Given the description of an element on the screen output the (x, y) to click on. 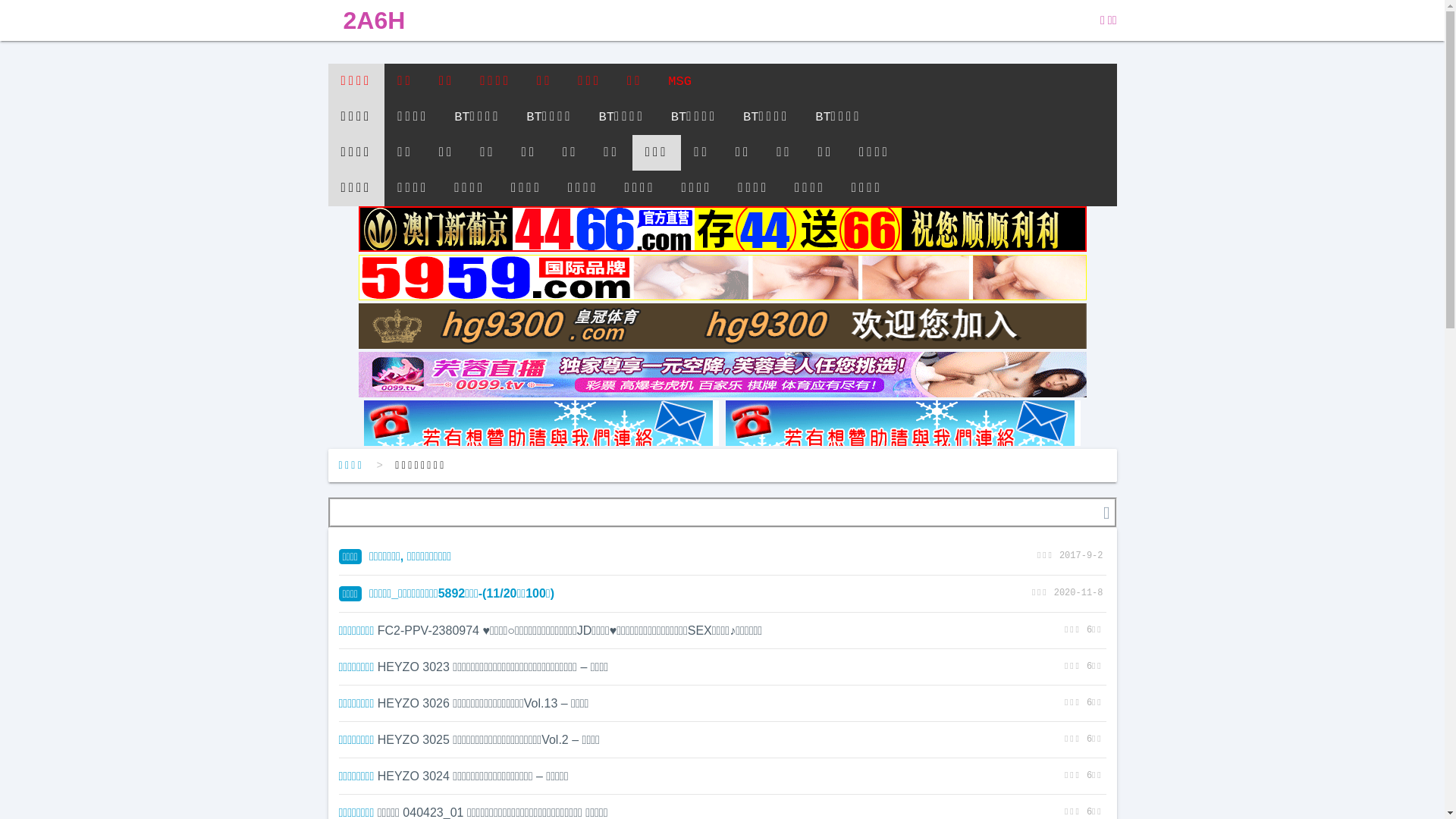
2A6H Element type: text (373, 20)
MSG Element type: text (679, 81)
